Given the description of an element on the screen output the (x, y) to click on. 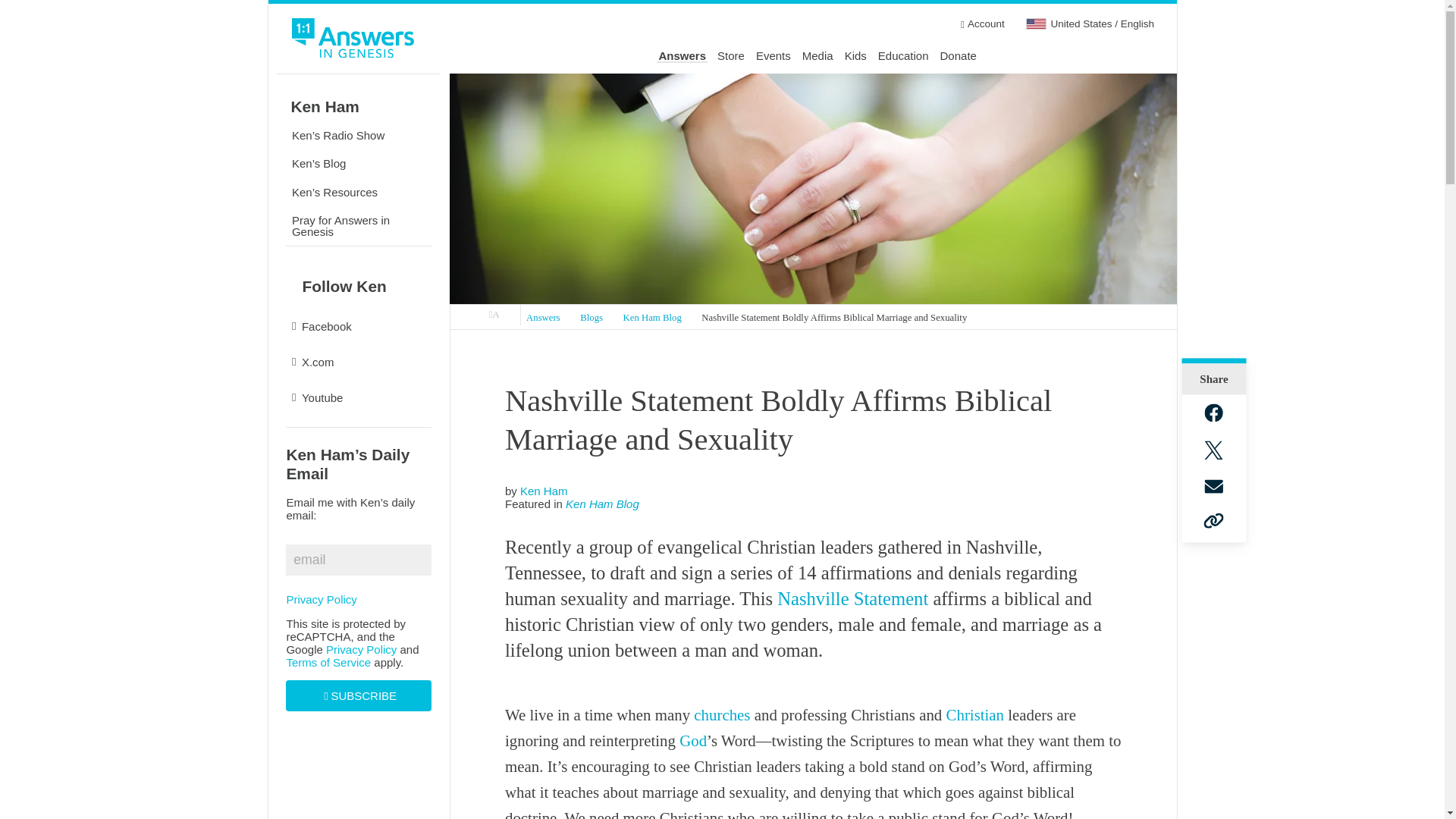
Ken Ham Blog (652, 318)
Kids (855, 55)
Store (731, 55)
Answers (681, 55)
Ken Ham (543, 490)
Events (772, 55)
churches (721, 714)
Store (731, 55)
Answers (543, 318)
God (692, 741)
